Given the description of an element on the screen output the (x, y) to click on. 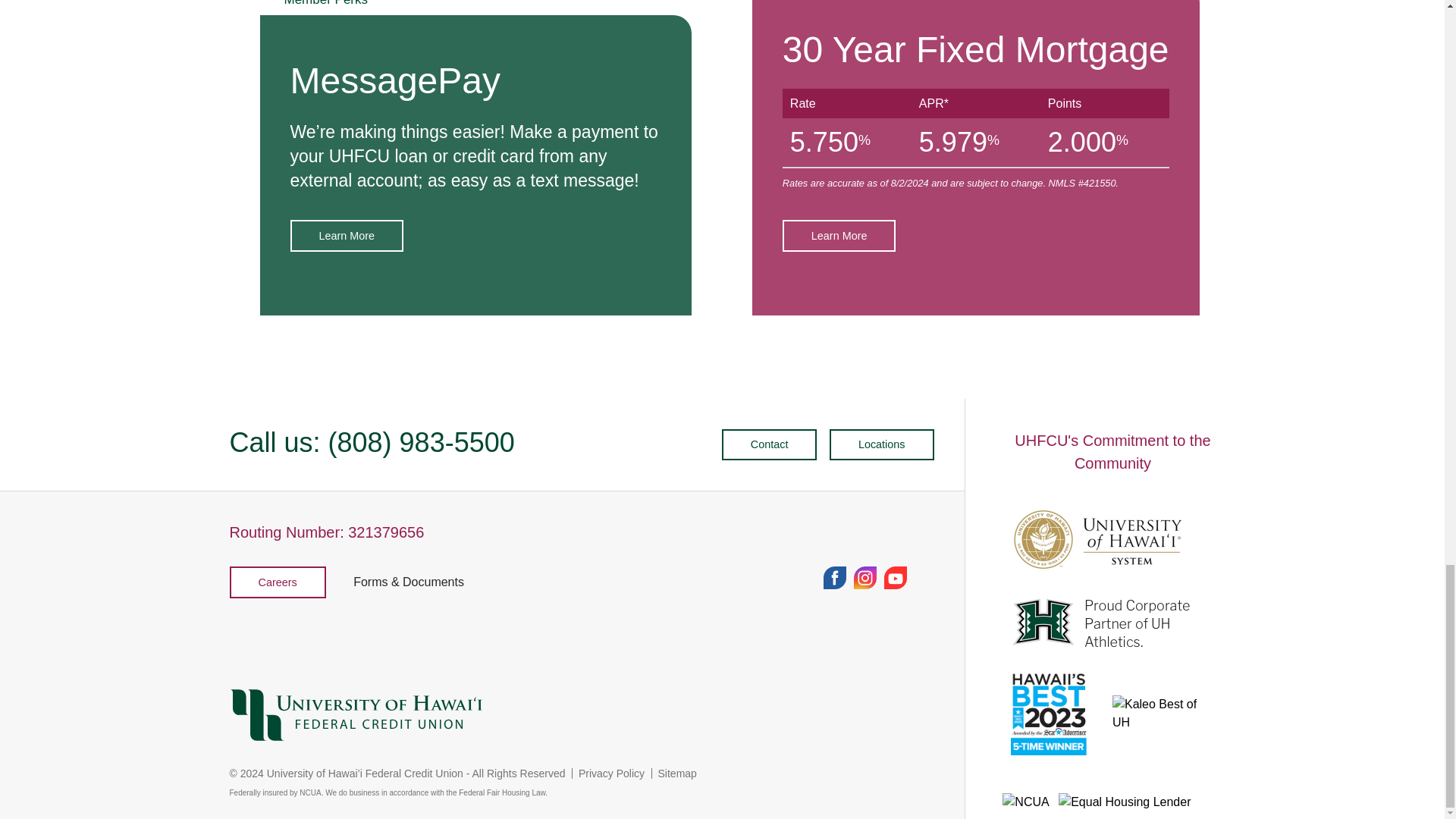
University of Hawai'i Athletics (1101, 623)
Equal Housing Lender (1124, 802)
NCUA (1025, 802)
University of Hawai'i Federal Credit Union (581, 717)
University of Hawai'i System (1101, 539)
